Given the description of an element on the screen output the (x, y) to click on. 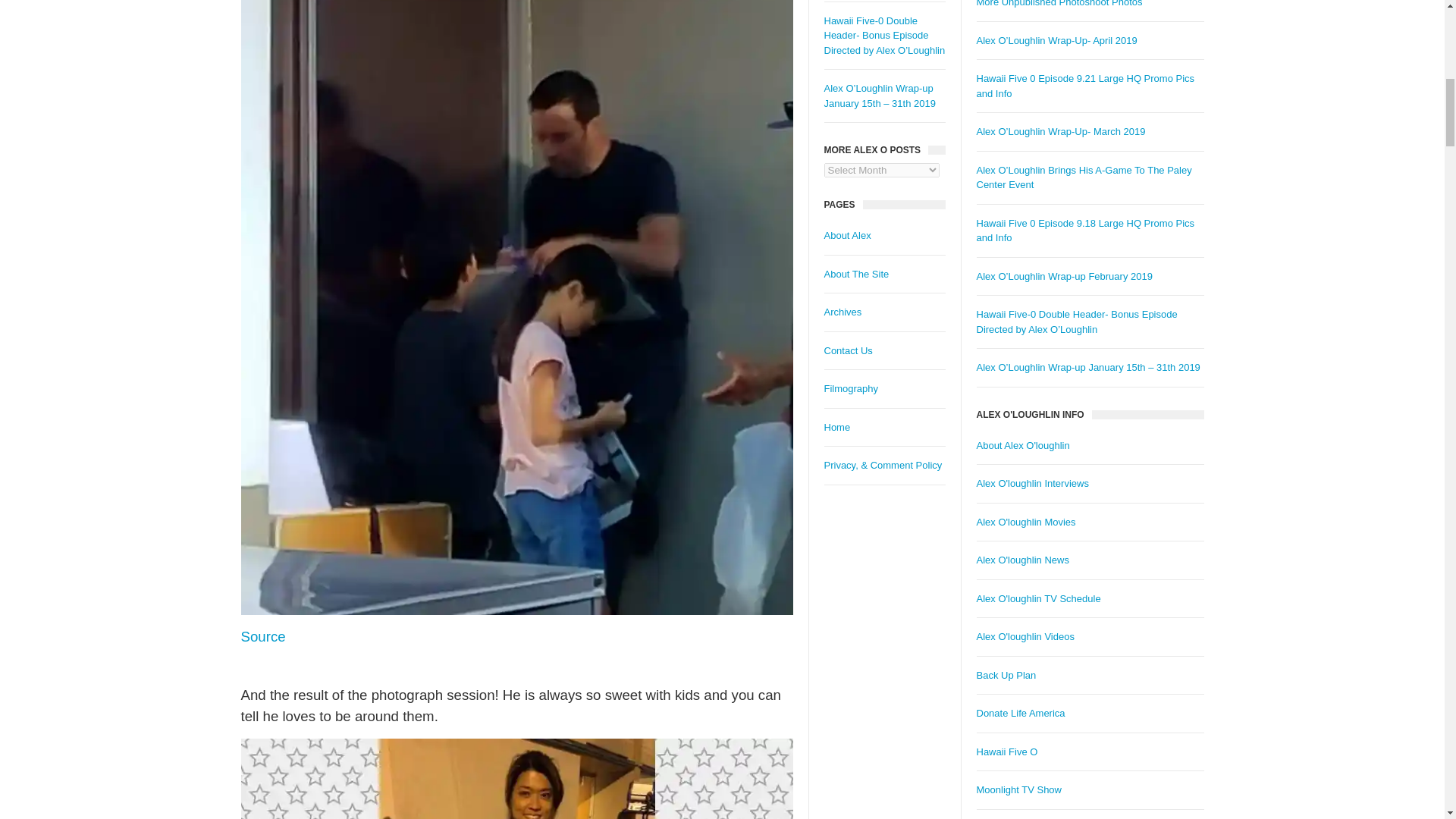
Source (263, 636)
Organ Donation (1020, 713)
back up plan movie (1006, 674)
Moonlight TV Show (1019, 789)
